Given the description of an element on the screen output the (x, y) to click on. 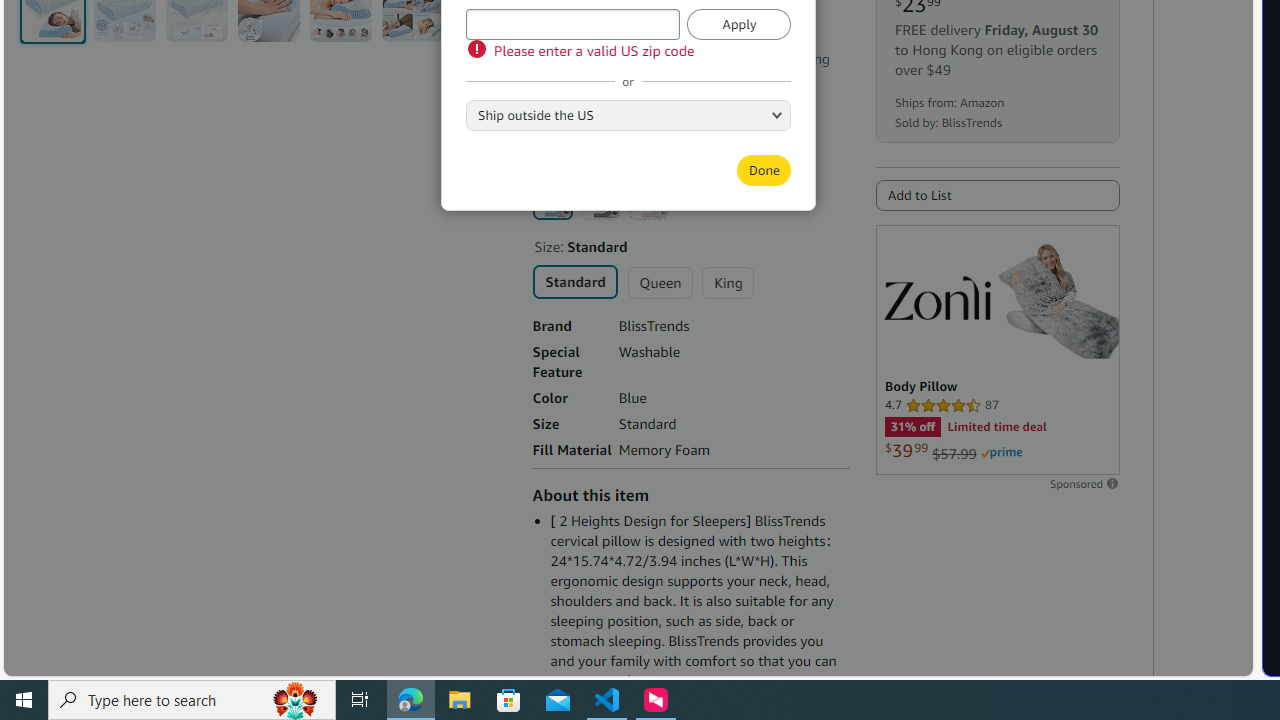
Blue (551, 199)
Learn more about Amazon pricing and savings (634, 32)
Blue (551, 199)
Done (763, 170)
Sponsored ad (997, 349)
Queen (660, 282)
AutomationID: GLUXCountryList (628, 114)
Logo (937, 297)
